Given the description of an element on the screen output the (x, y) to click on. 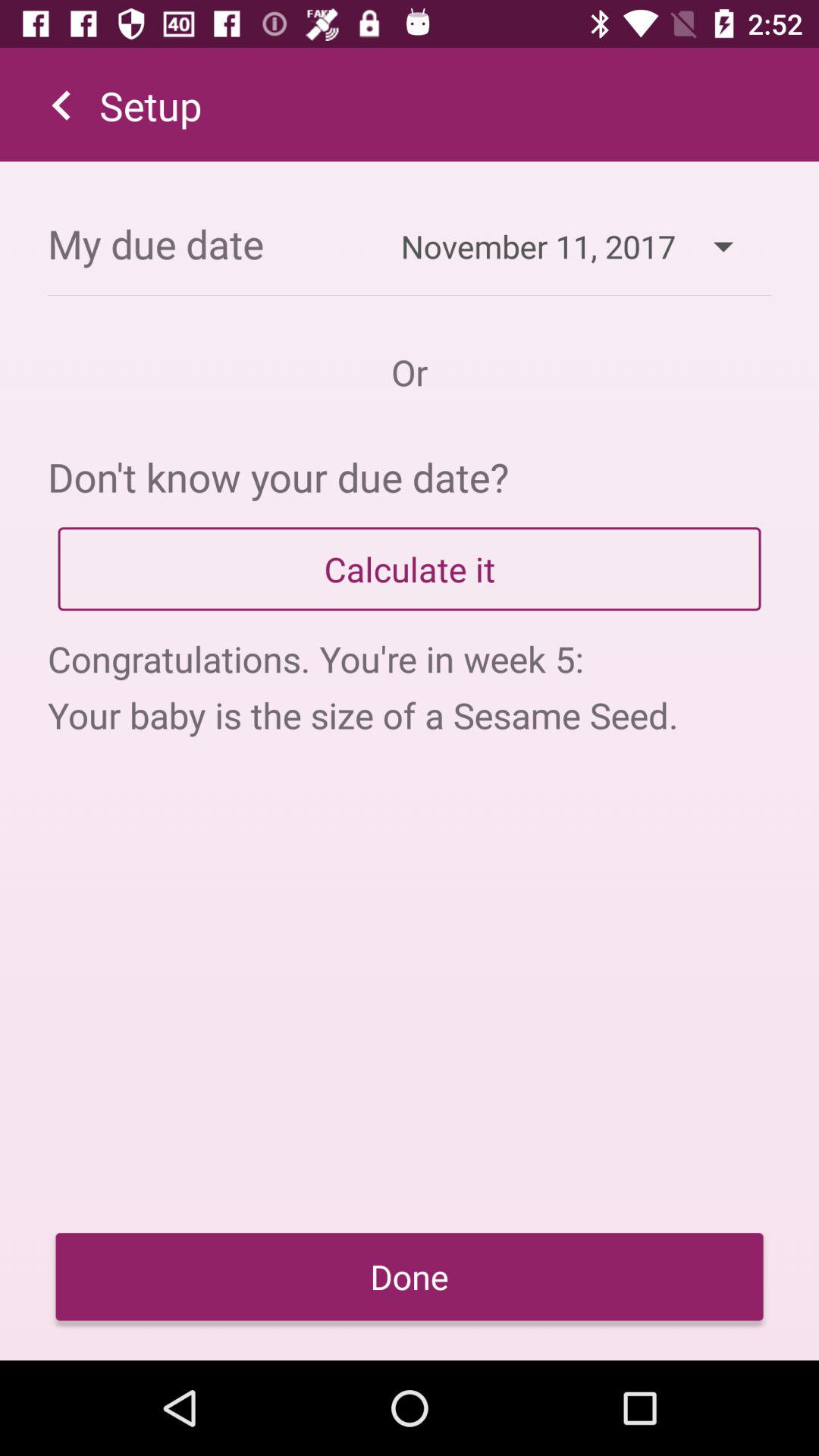
scroll until the done icon (409, 1276)
